Given the description of an element on the screen output the (x, y) to click on. 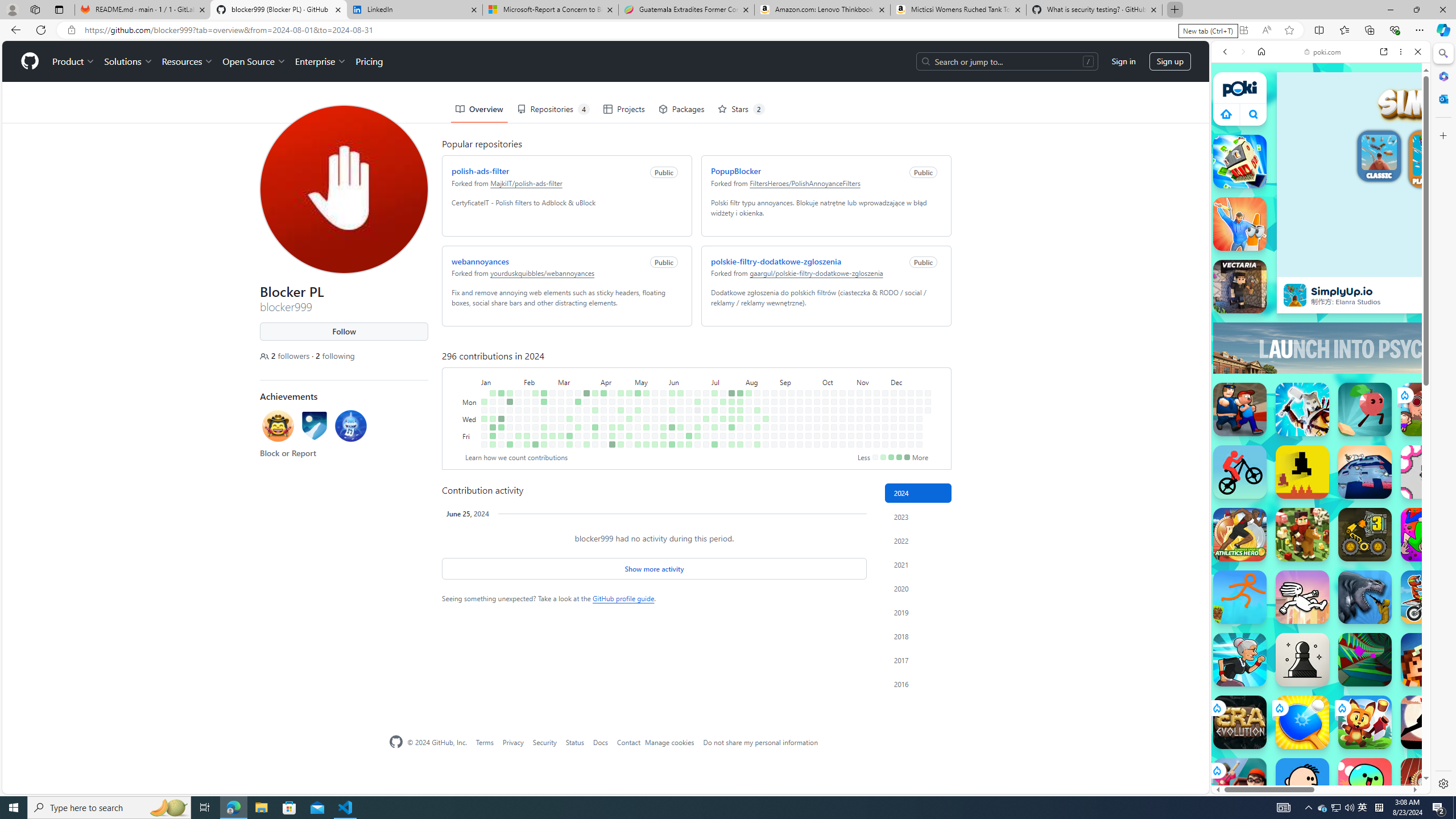
Contribution activity in 2019 (917, 612)
No contributions on June 12th. (680, 418)
Day of Week (471, 380)
No contributions on January 28th. (518, 392)
No contributions on September 23rd. (807, 401)
BoxRob 3 (1364, 534)
No contributions on September 27th. (807, 435)
Monday (471, 401)
No contributions on September 15th. (799, 392)
2 contributions on April 21st. (620, 392)
1 contribution on June 24th. (697, 401)
No contributions on November 18th. (876, 401)
Fox Island Builder (1364, 722)
polish-ads-filter (480, 170)
